Given the description of an element on the screen output the (x, y) to click on. 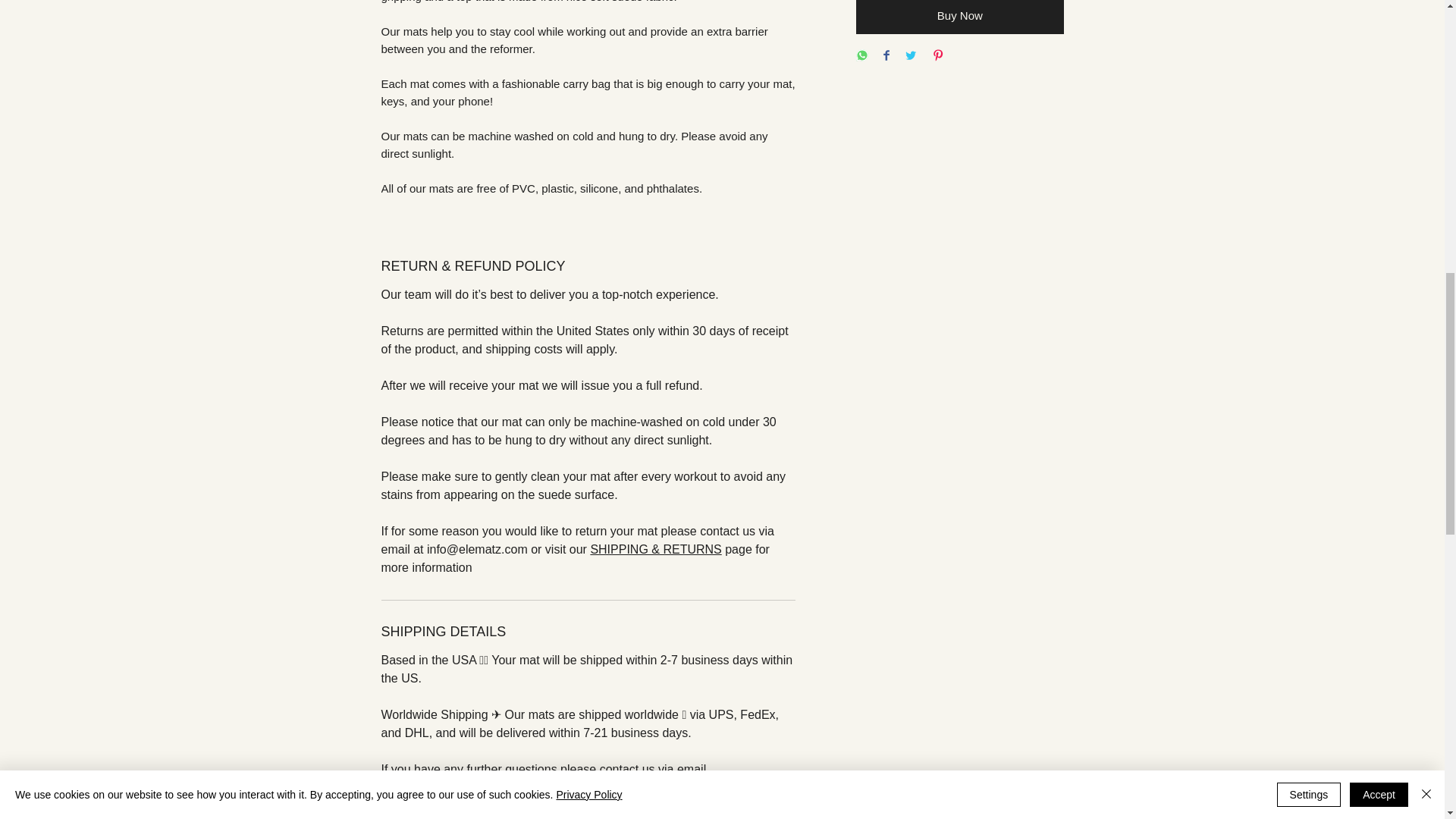
Buy Now (959, 17)
